Given the description of an element on the screen output the (x, y) to click on. 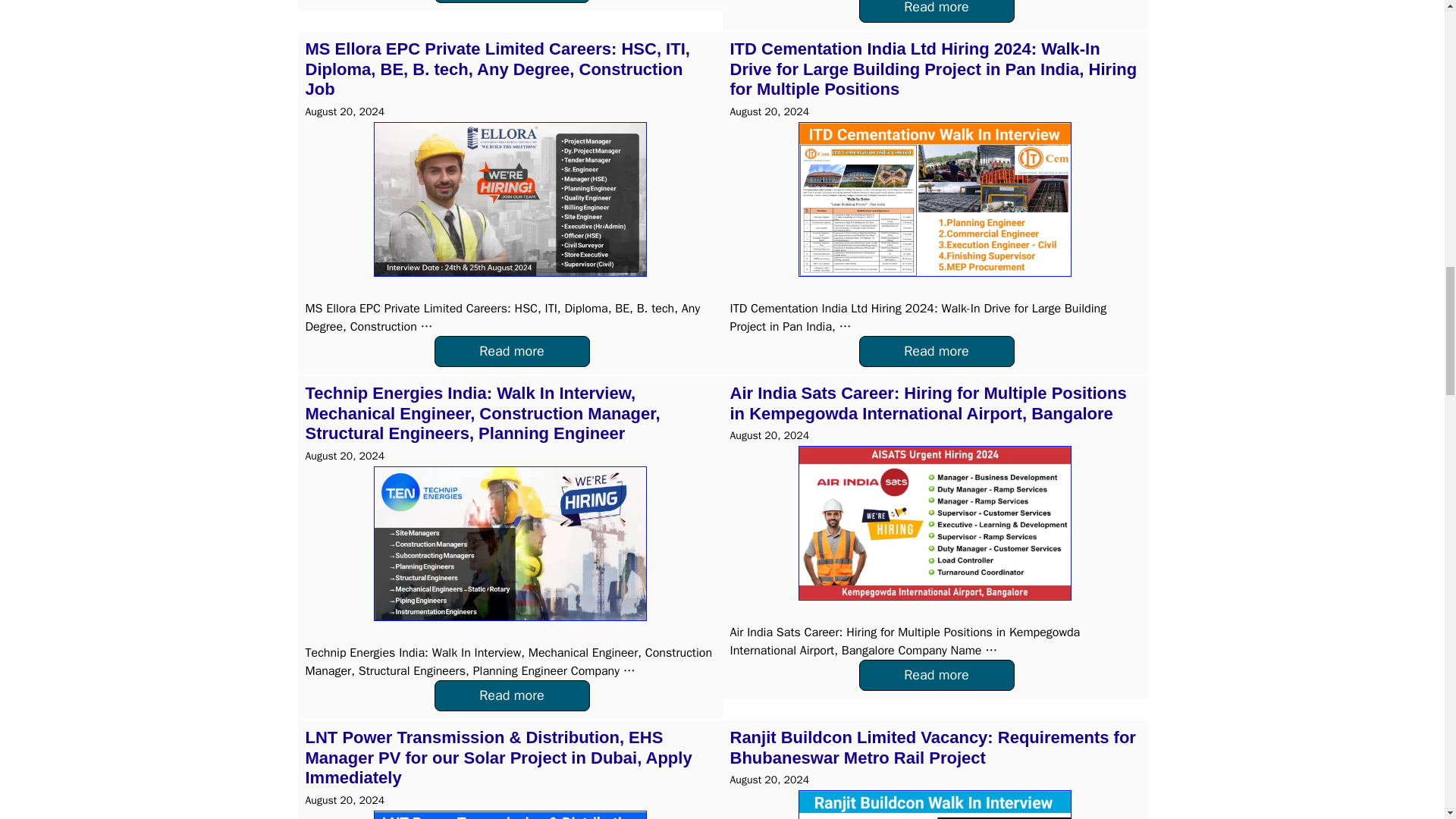
Read more (936, 350)
Read more (511, 350)
Read more (511, 1)
Read more (936, 11)
